Given the description of an element on the screen output the (x, y) to click on. 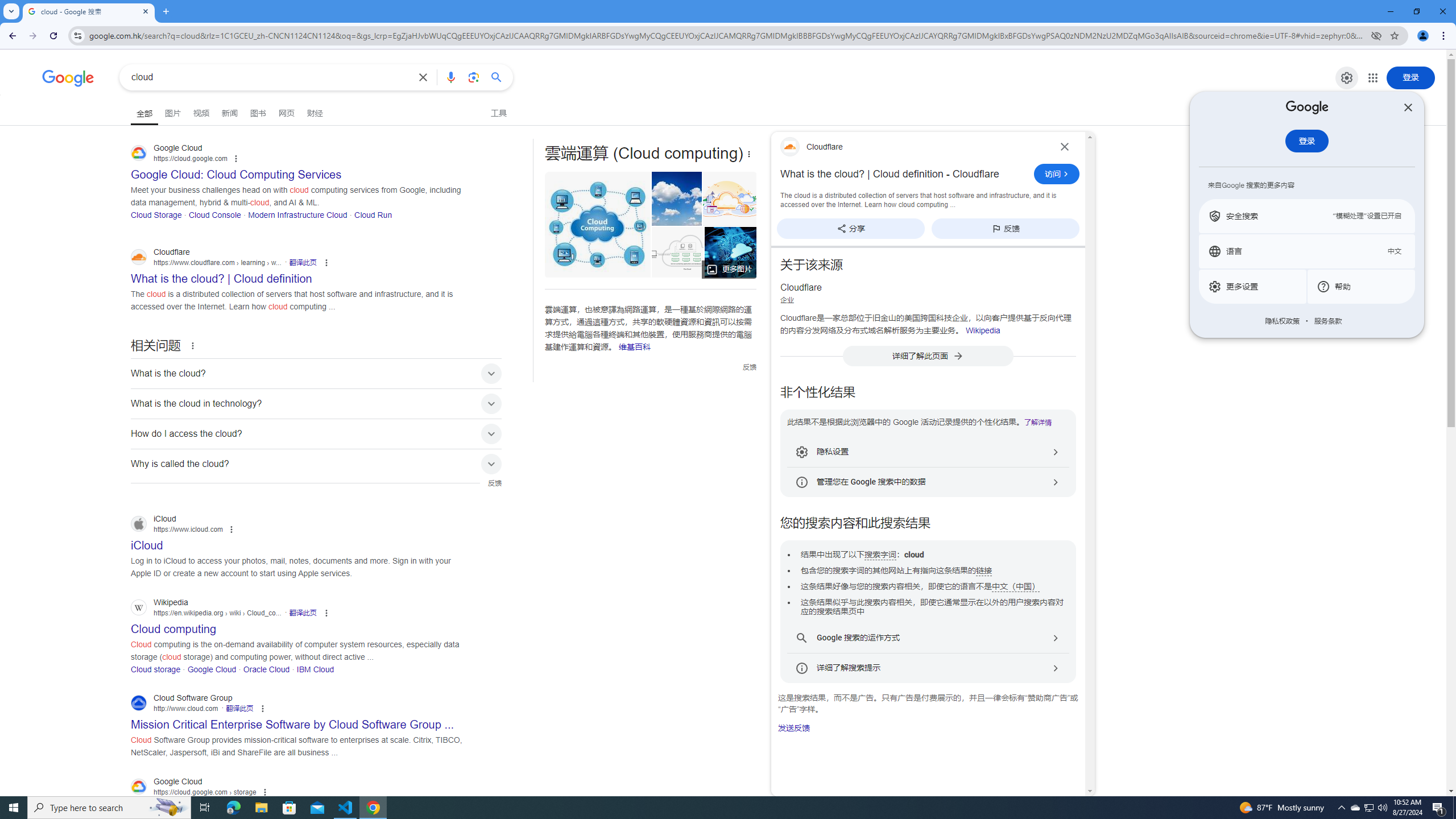
What is the cloud? | Cloud definition | Cloudflare (679, 251)
What is the cloud? | Cloud definition | Cloudflare (677, 251)
Cloud Run (373, 214)
Google (68, 78)
Connectivity Cloud | Cloudflare (730, 198)
What is the cloud in technology? (316, 403)
